Given the description of an element on the screen output the (x, y) to click on. 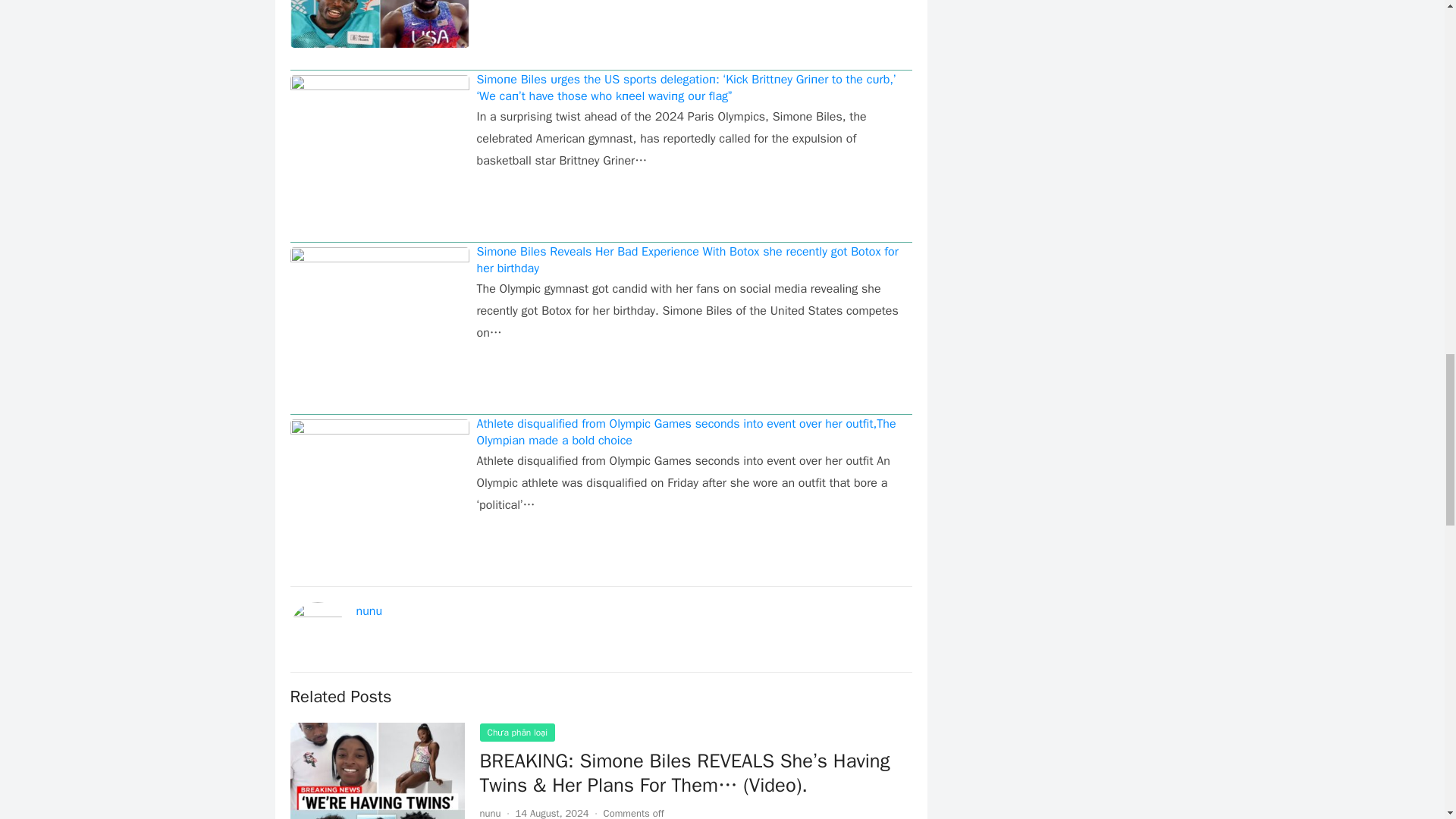
nunu (369, 611)
Posts by nunu (489, 812)
nunu (489, 812)
